Given the description of an element on the screen output the (x, y) to click on. 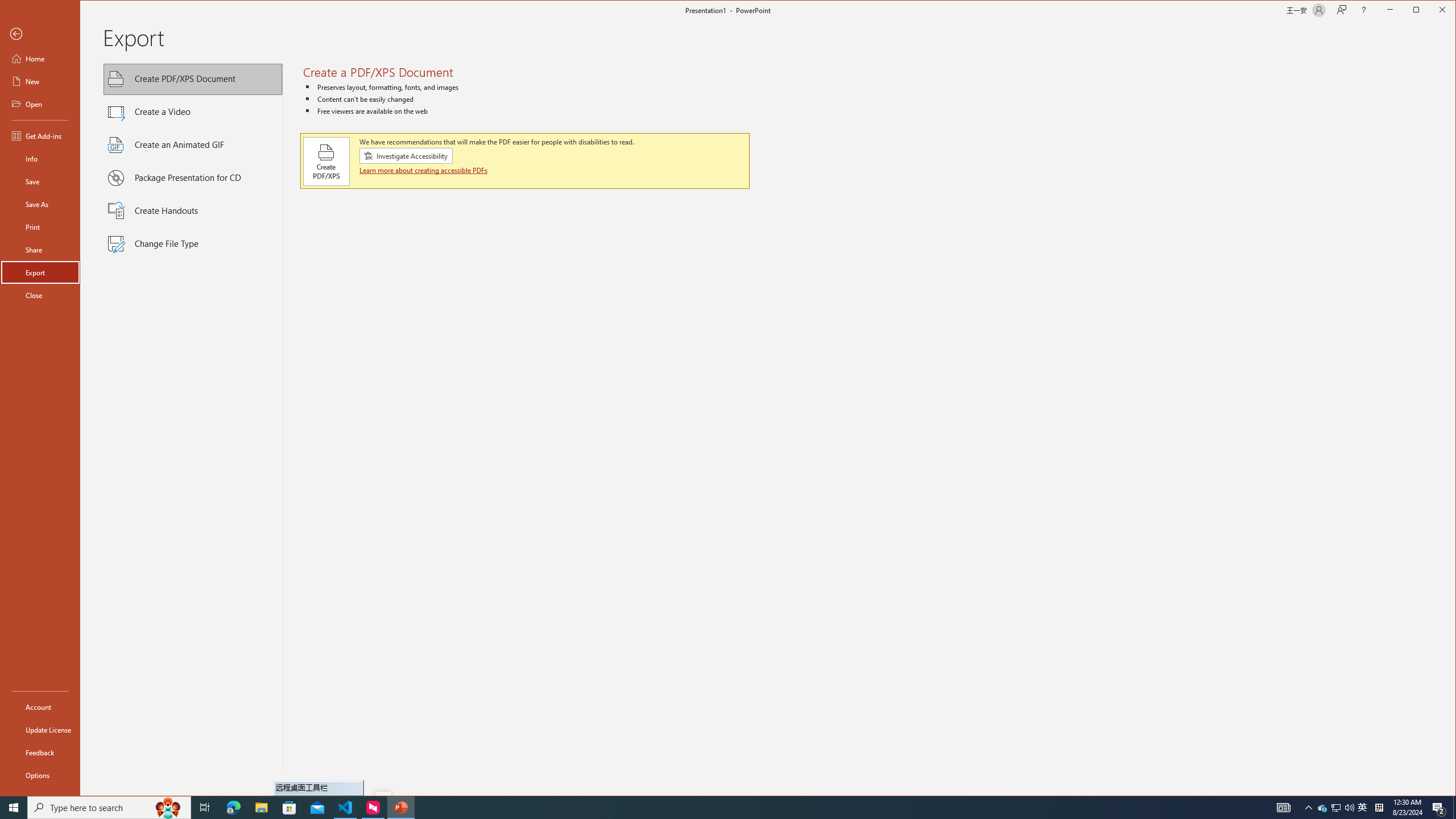
Start (1322, 807)
New (13, 807)
Investigate Accessibility (40, 80)
Running applications (405, 155)
Update License (700, 807)
Task View (40, 729)
Options (204, 807)
Create PDF/XPS Document (40, 775)
Info (193, 79)
Microsoft Edge (40, 158)
